Given the description of an element on the screen output the (x, y) to click on. 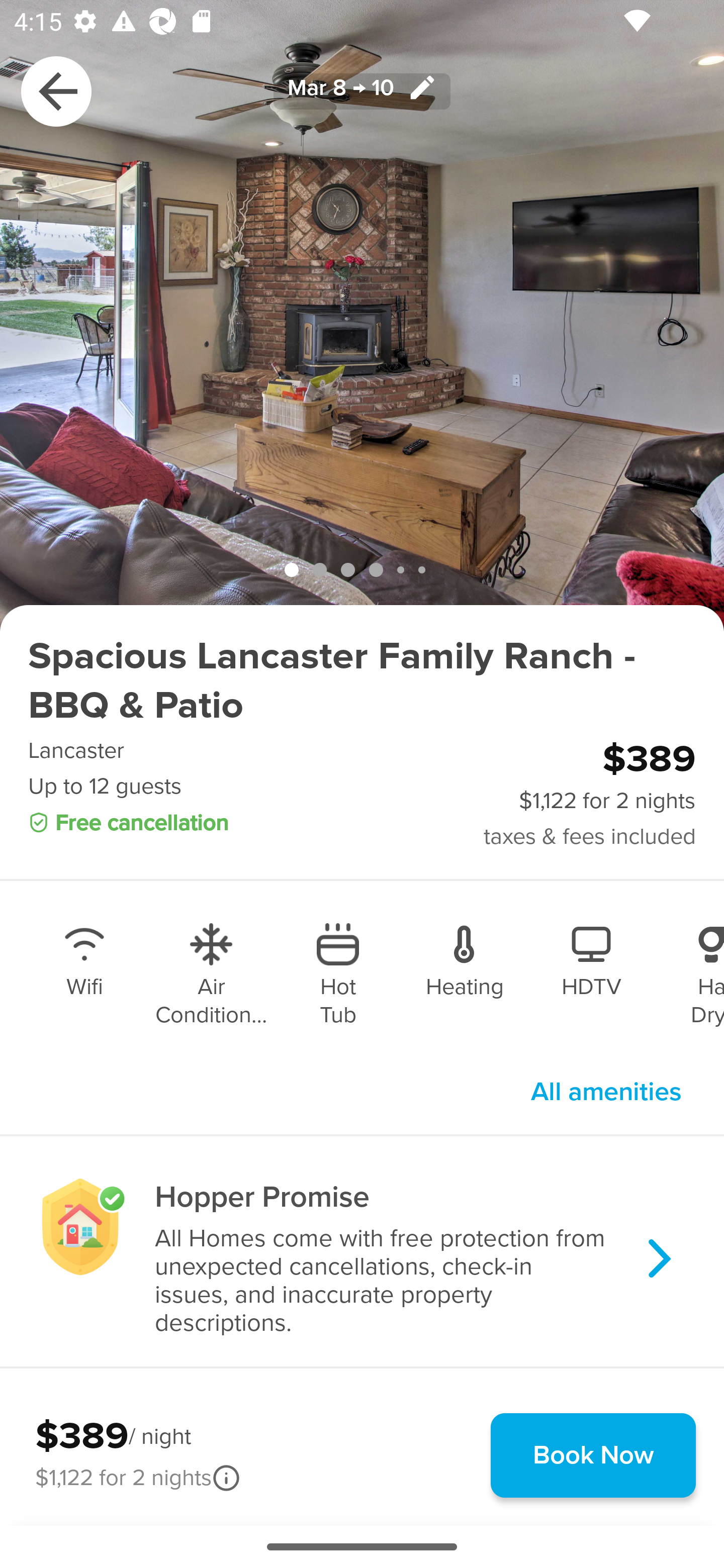
Mar 8 → 10 (361, 90)
Spacious Lancaster Family Ranch - BBQ & Patio (361, 681)
All amenities (606, 1091)
Book Now (592, 1454)
